Given the description of an element on the screen output the (x, y) to click on. 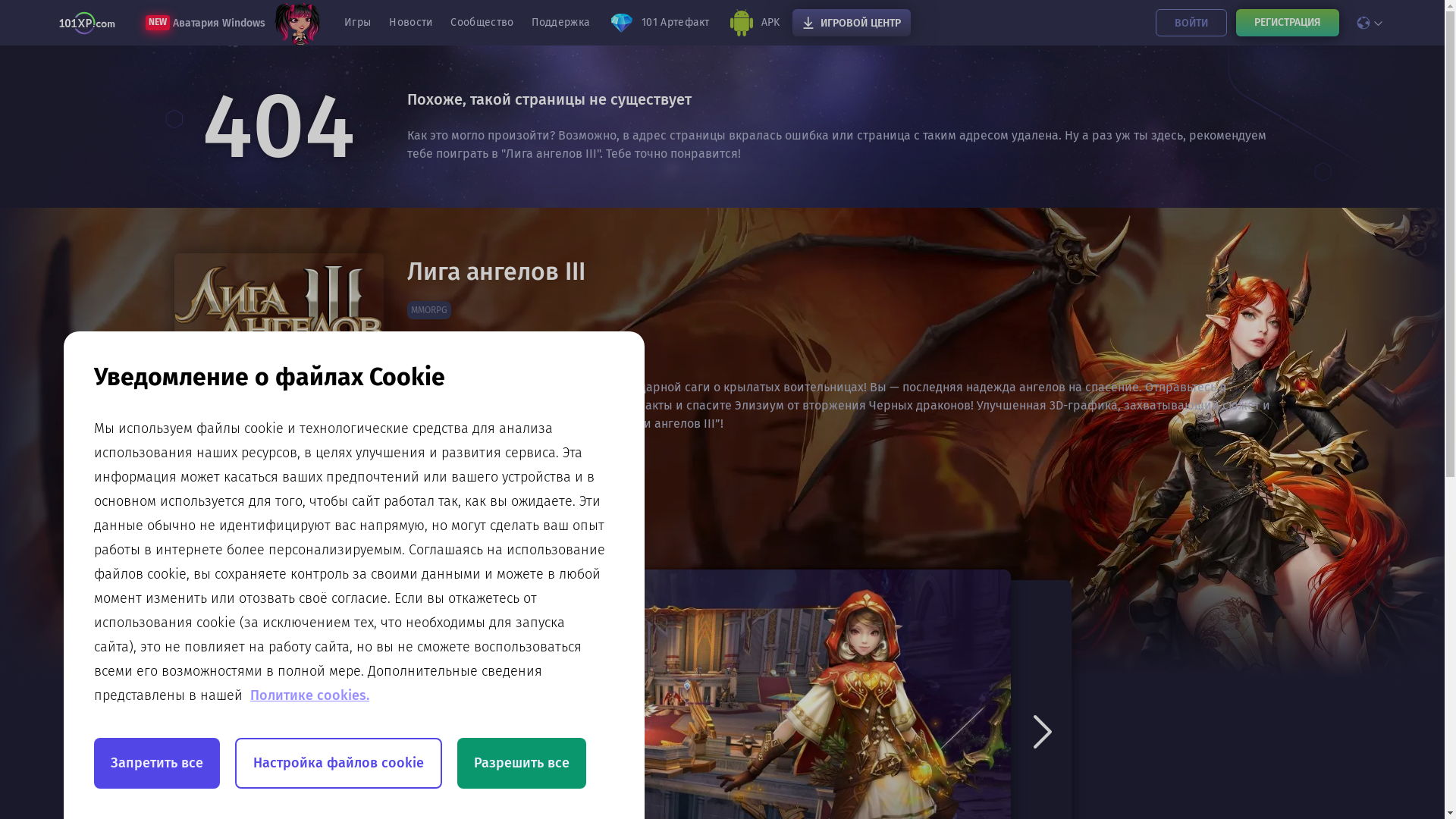
APK Element type: text (753, 22)
